Given the description of an element on the screen output the (x, y) to click on. 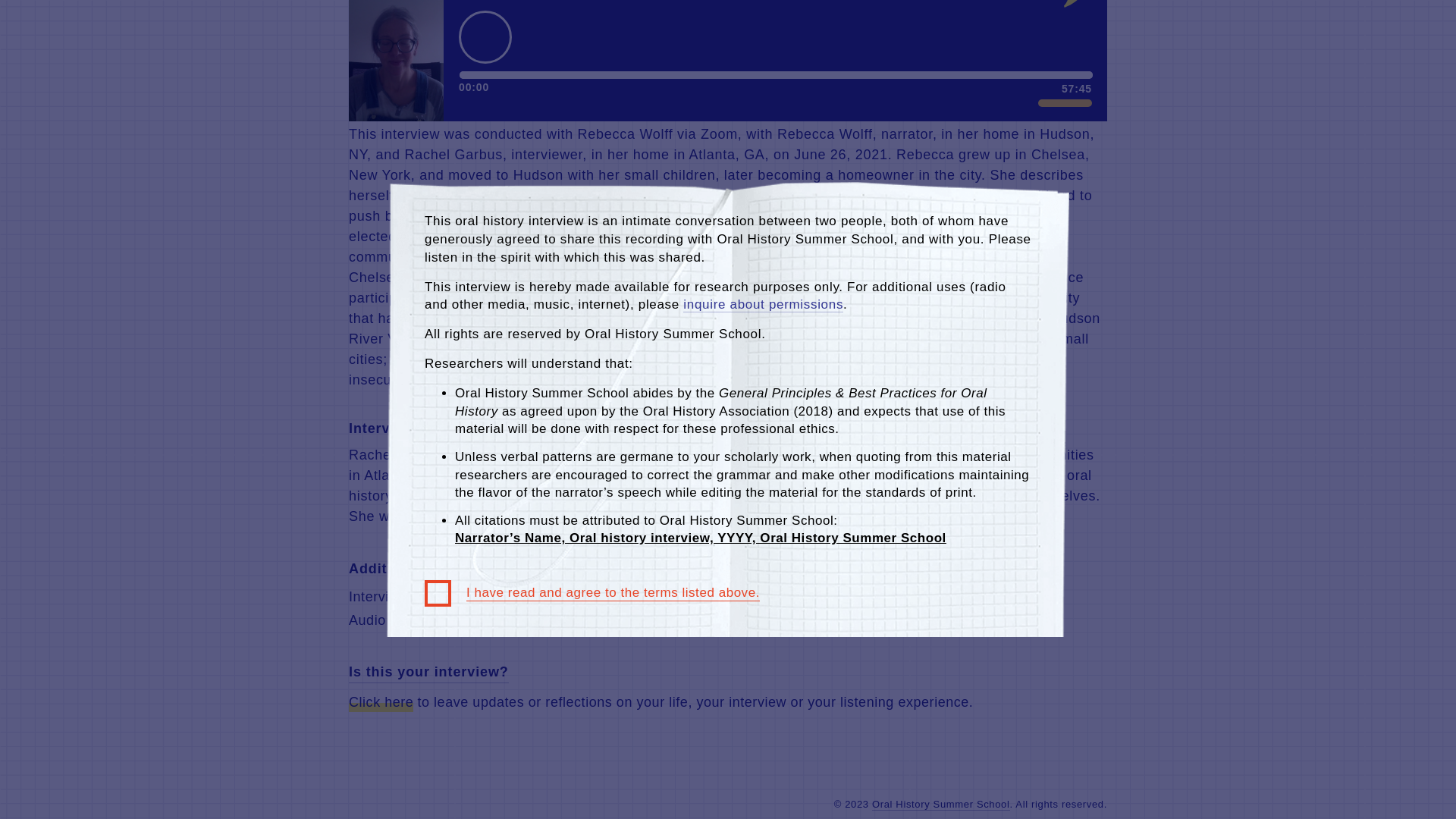
1 (1065, 54)
0 (776, 27)
Play (485, 7)
Mute (1021, 54)
I have read and agree to the terms listed above. (592, 267)
